Given the description of an element on the screen output the (x, y) to click on. 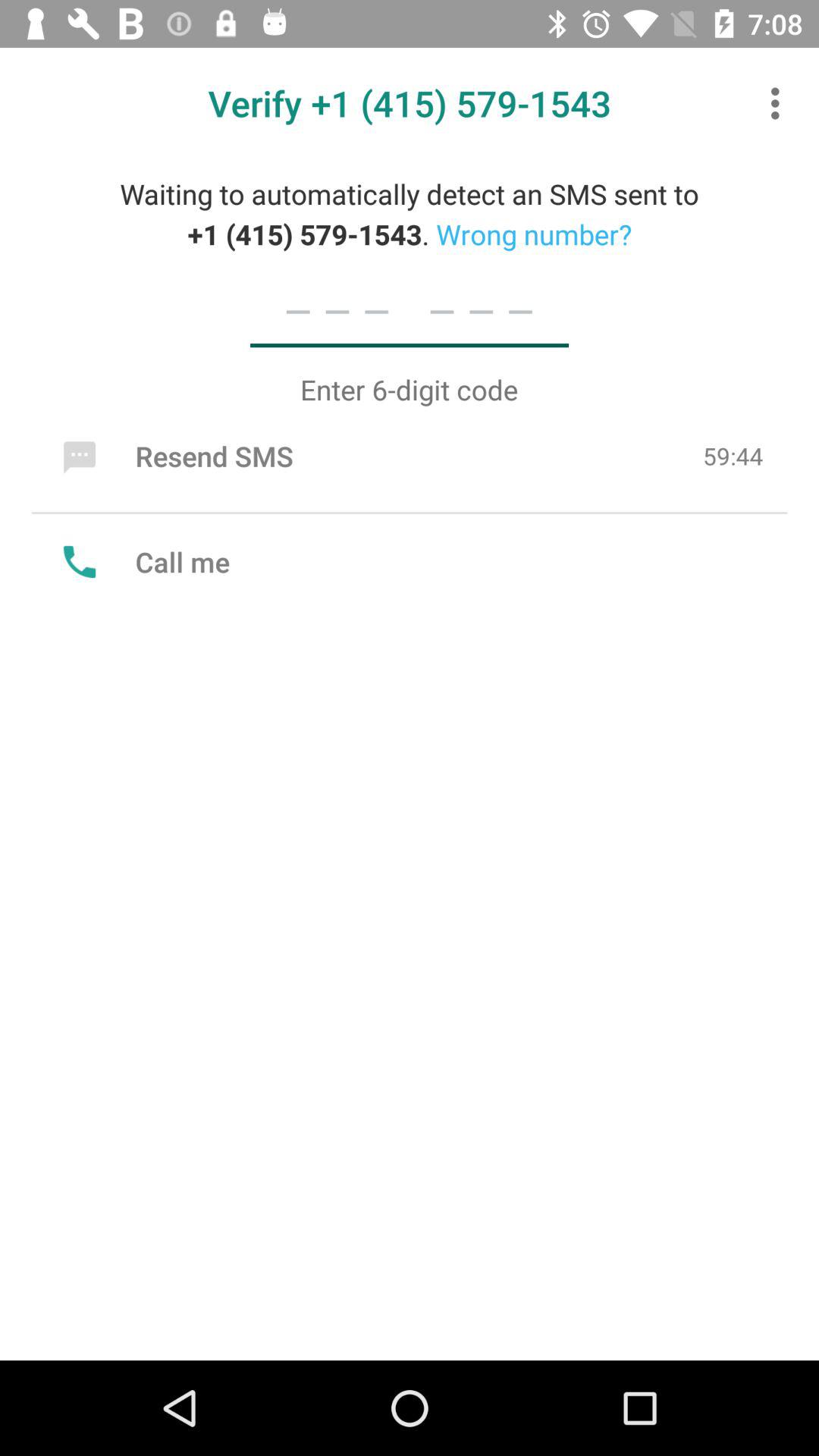
open the resend sms item (174, 455)
